Given the description of an element on the screen output the (x, y) to click on. 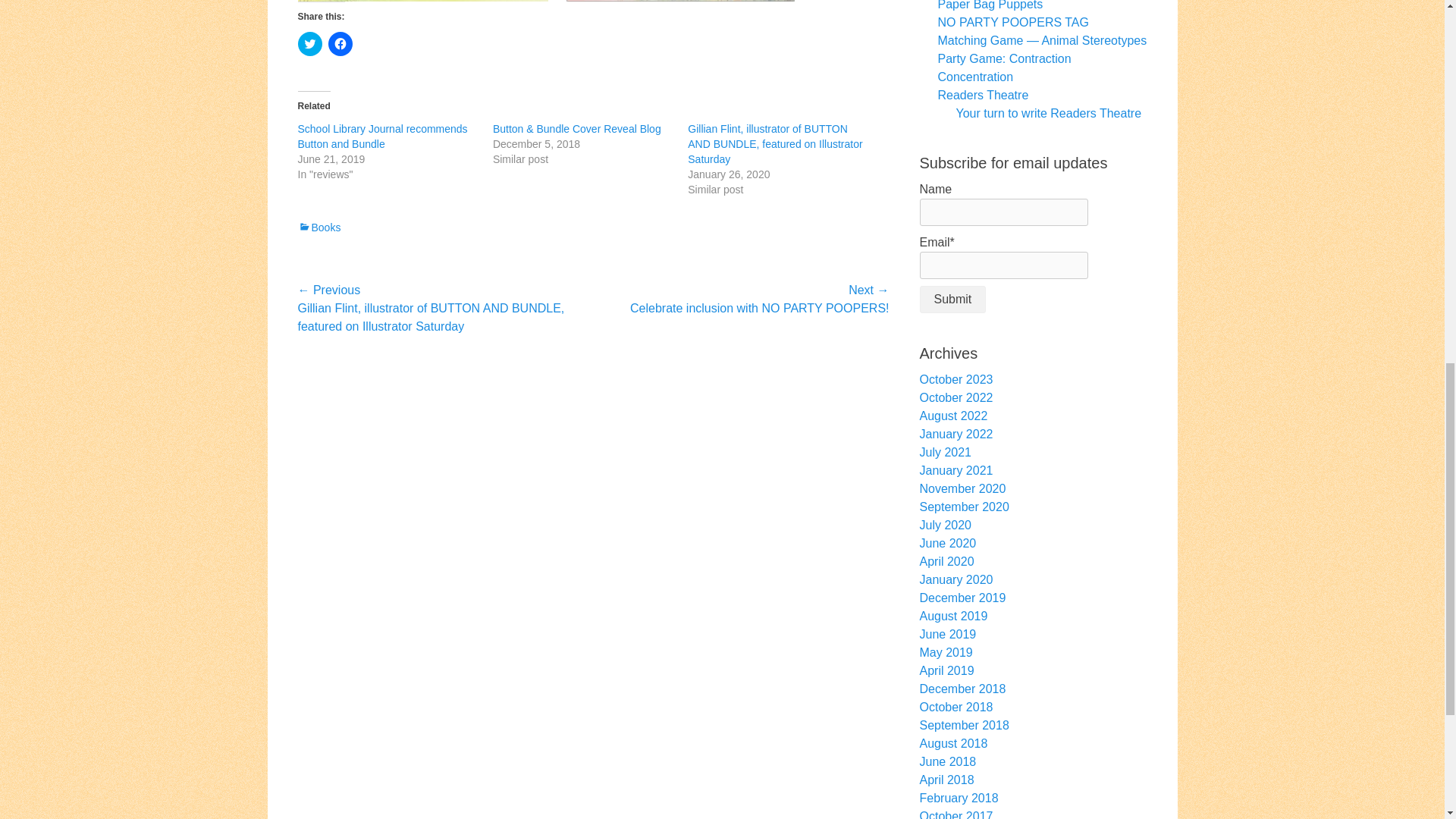
School Library Journal recommends Button and Bundle (382, 135)
Click to share on Facebook (339, 43)
Submit (951, 298)
Click to share on Twitter (309, 43)
